Given the description of an element on the screen output the (x, y) to click on. 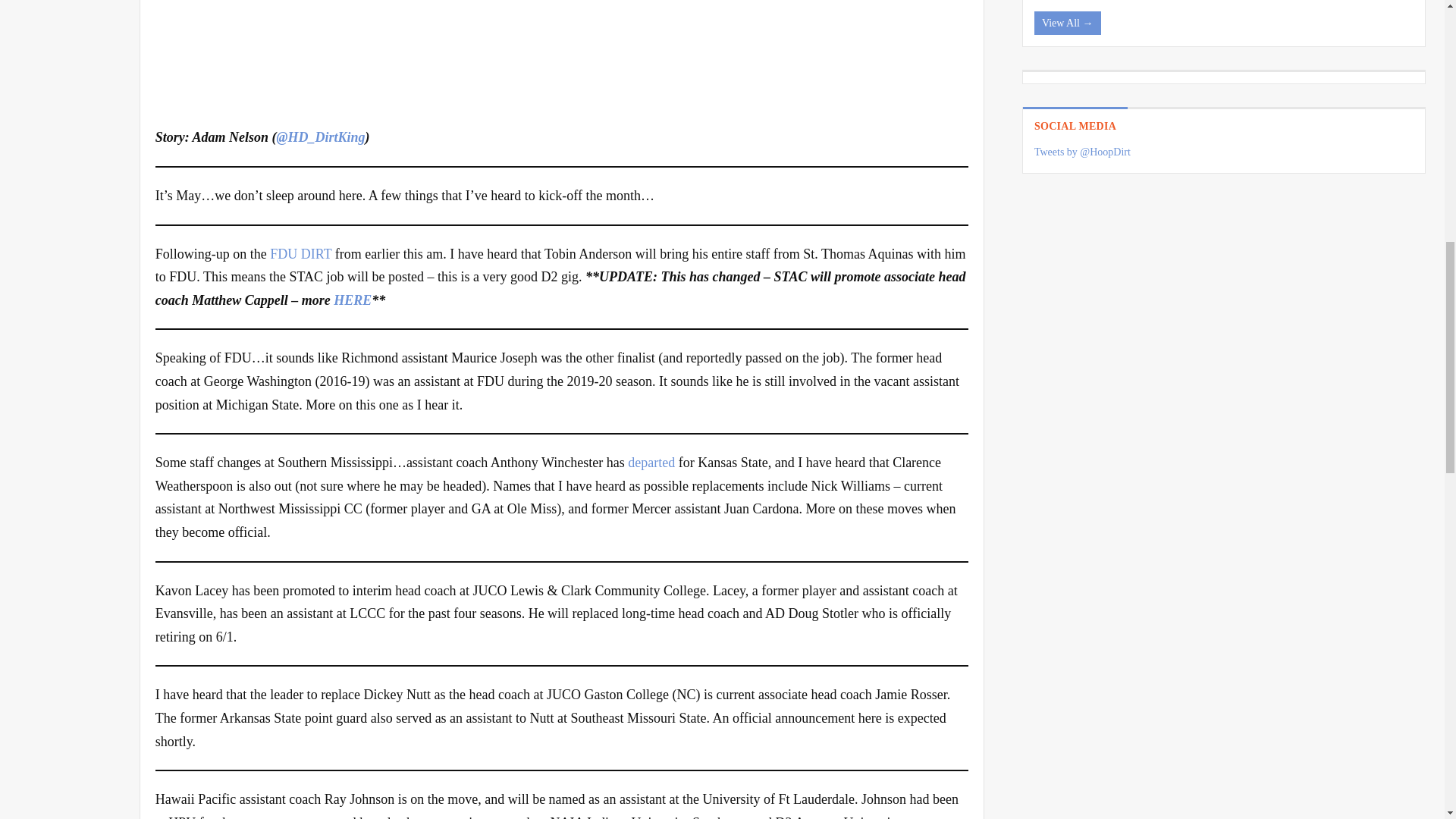
HERE (352, 299)
departed (651, 462)
FDU DIRT (300, 253)
